Given the description of an element on the screen output the (x, y) to click on. 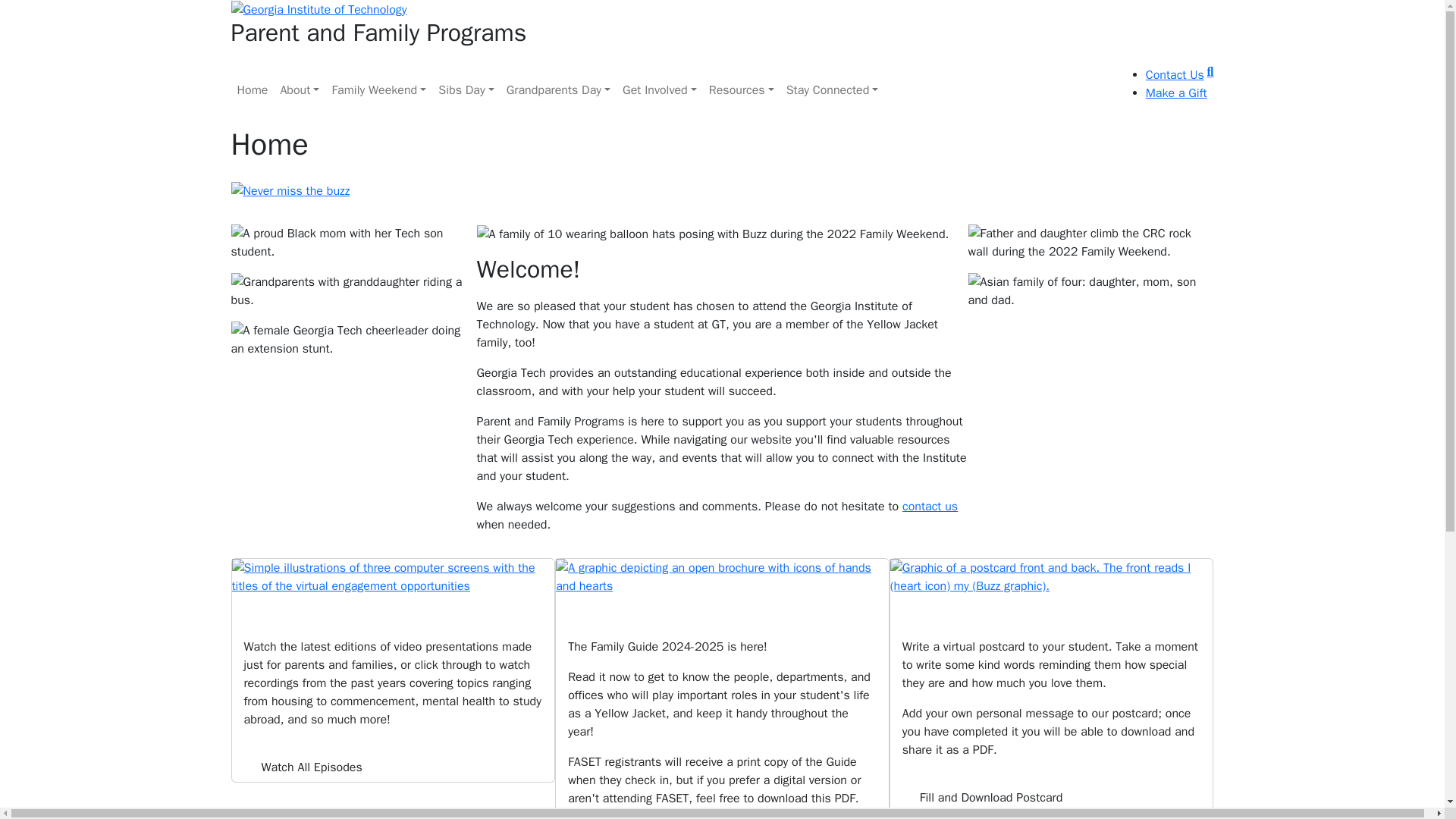
contact us (930, 506)
Make a Gift (1176, 92)
Watch All Episodes (311, 767)
Fill and Download Postcard (1050, 575)
Download the 2024-2025 Family Guide (722, 575)
Home (251, 90)
Watch All Episodes (311, 767)
Parent and Family Programs (721, 32)
Georgia Institute of Technology (318, 8)
Contact Us (1174, 74)
